Given the description of an element on the screen output the (x, y) to click on. 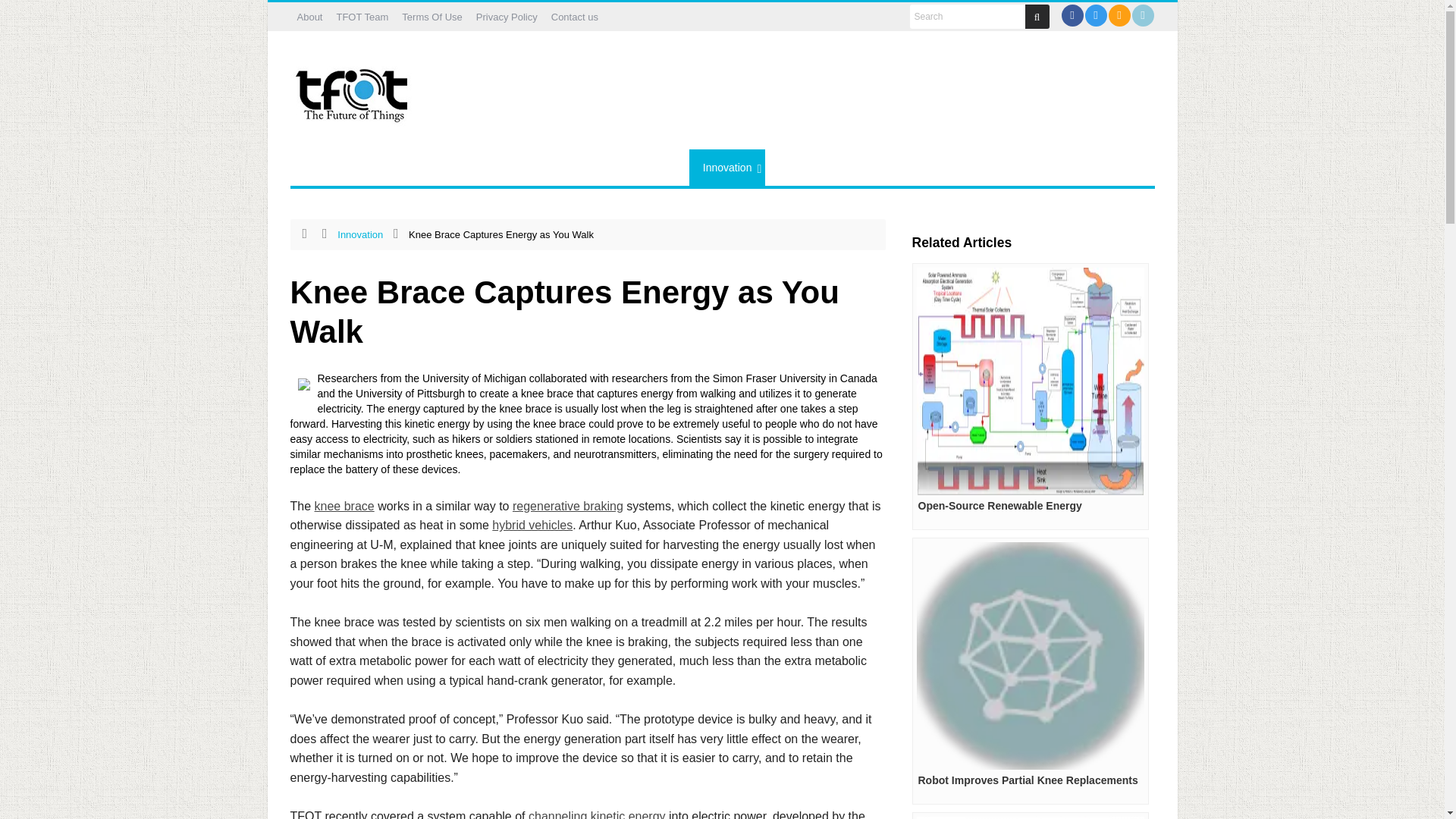
TFOT (354, 90)
Contact us (574, 16)
Facebook (1071, 15)
About (309, 16)
Terms Of Use (431, 16)
Twitter (1096, 15)
Computers (436, 167)
Search (967, 16)
Technology (580, 167)
TFOT Team (361, 16)
Science (508, 167)
Privacy Policy (506, 16)
LinkedIn (1142, 15)
Rss (1118, 15)
Communications (342, 167)
